Given the description of an element on the screen output the (x, y) to click on. 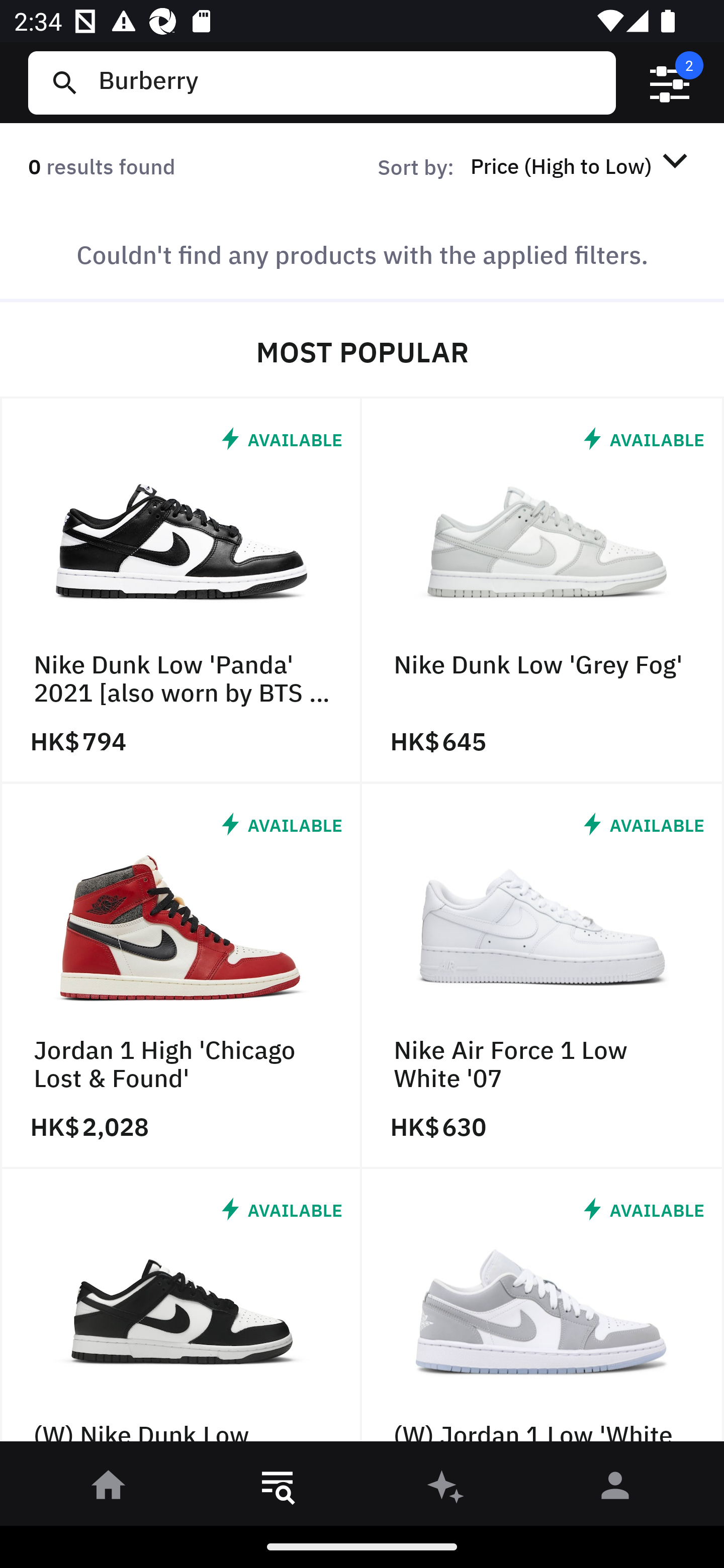
Burberry (349, 82)
 (669, 82)
Price (High to Low)  (582, 165)
 AVAILABLE Nike Dunk Low 'Grey Fog' HK$ 645 (543, 591)
 AVAILABLE Nike Air Force 1 Low White '07 HK$ 630 (543, 976)
 AVAILABLE (W) Nike Dunk Low 'Panda' 2021 (181, 1309)
 AVAILABLE (W) Jordan 1 Low 'White Wolf Grey' (543, 1309)
󰋜 (108, 1488)
󱎸 (277, 1488)
󰫢 (446, 1488)
󰀄 (615, 1488)
